Given the description of an element on the screen output the (x, y) to click on. 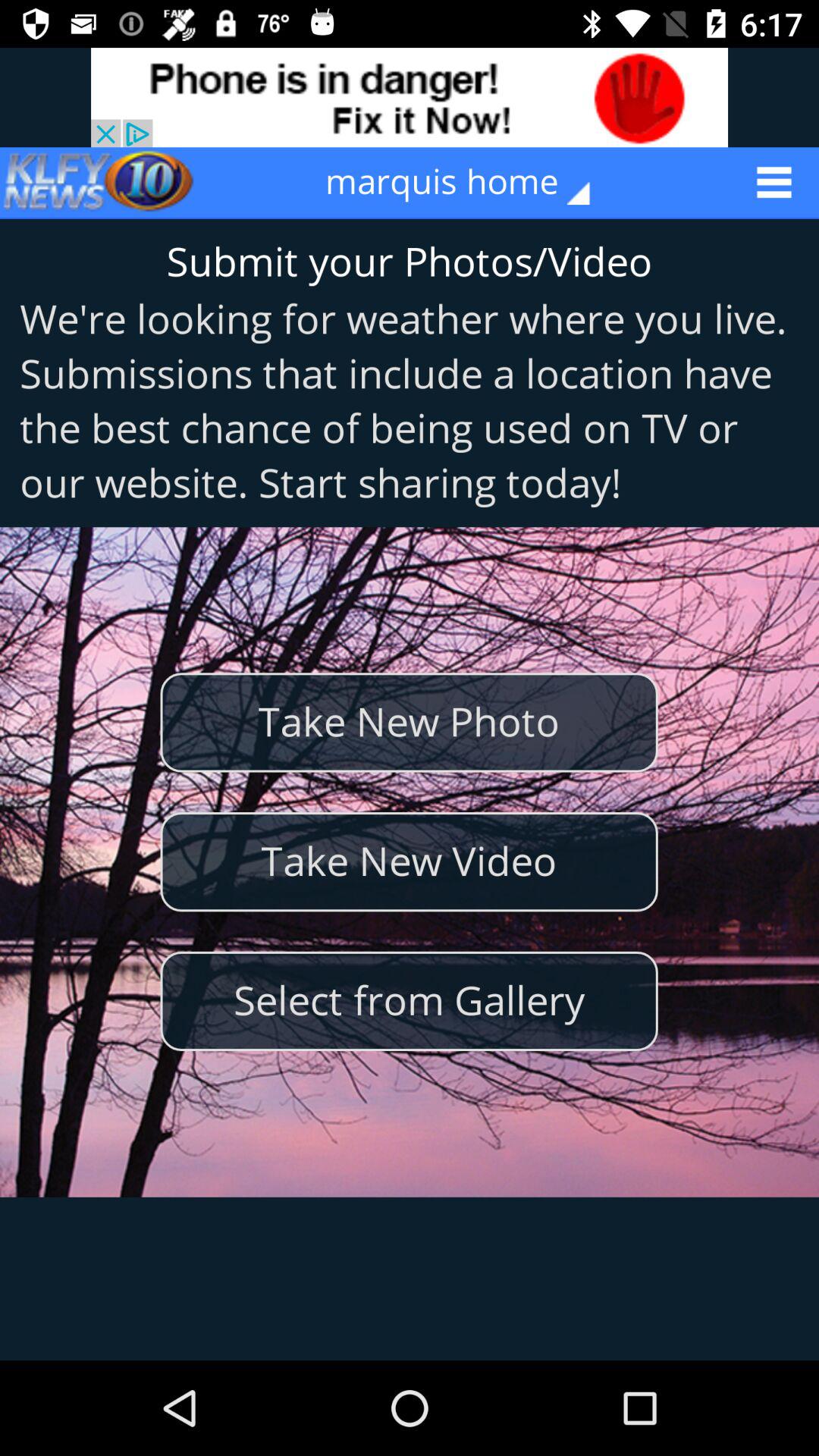
click select from gallery icon (409, 1001)
